Given the description of an element on the screen output the (x, y) to click on. 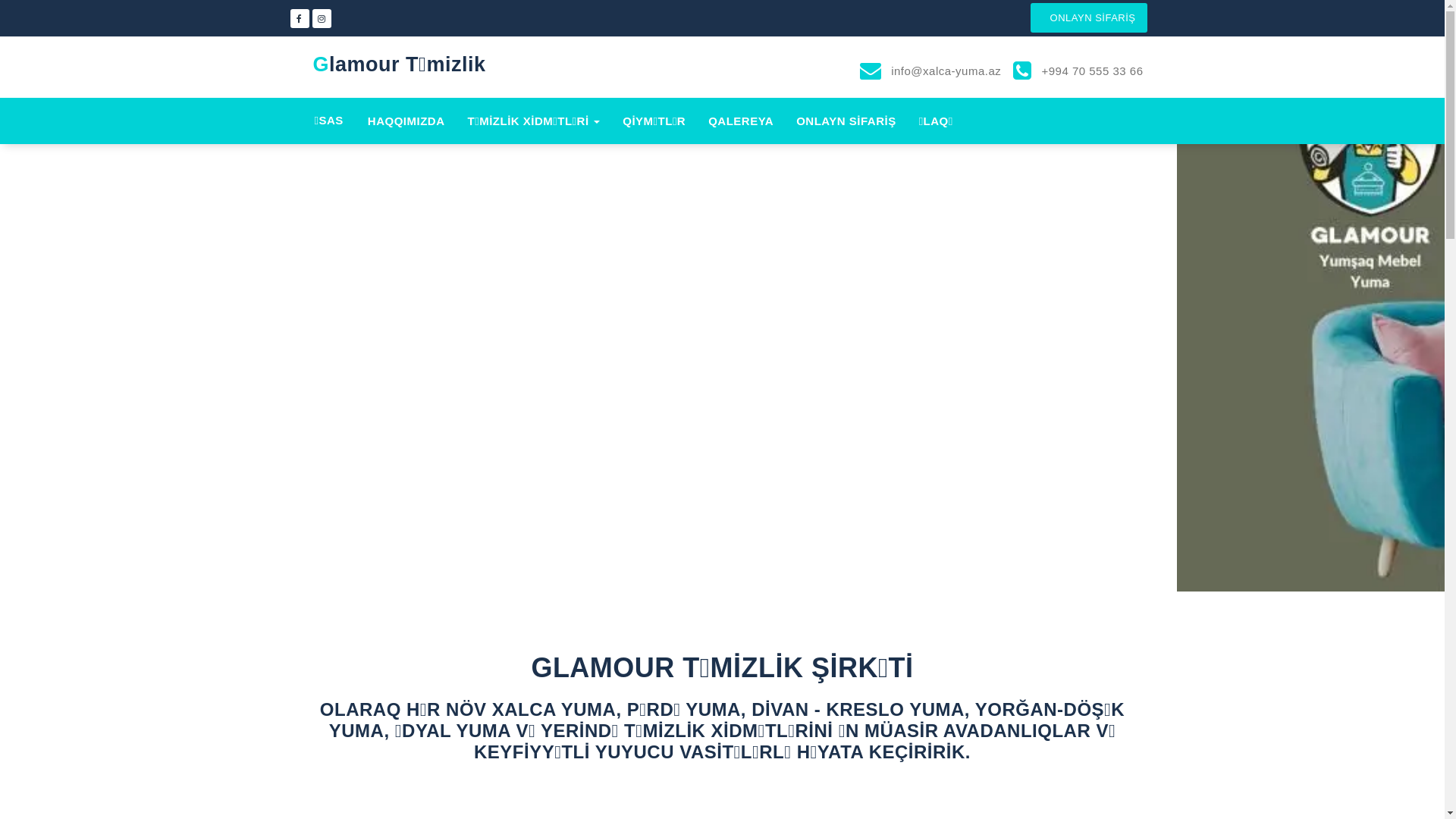
Skip to content Element type: text (0, 0)
HAQQIMIZDA Element type: text (406, 120)
+994 70 555 33 66 Element type: text (1090, 70)
info@xalca-yuma.az Element type: text (944, 70)
QALEREYA Element type: text (740, 120)
